Given the description of an element on the screen output the (x, y) to click on. 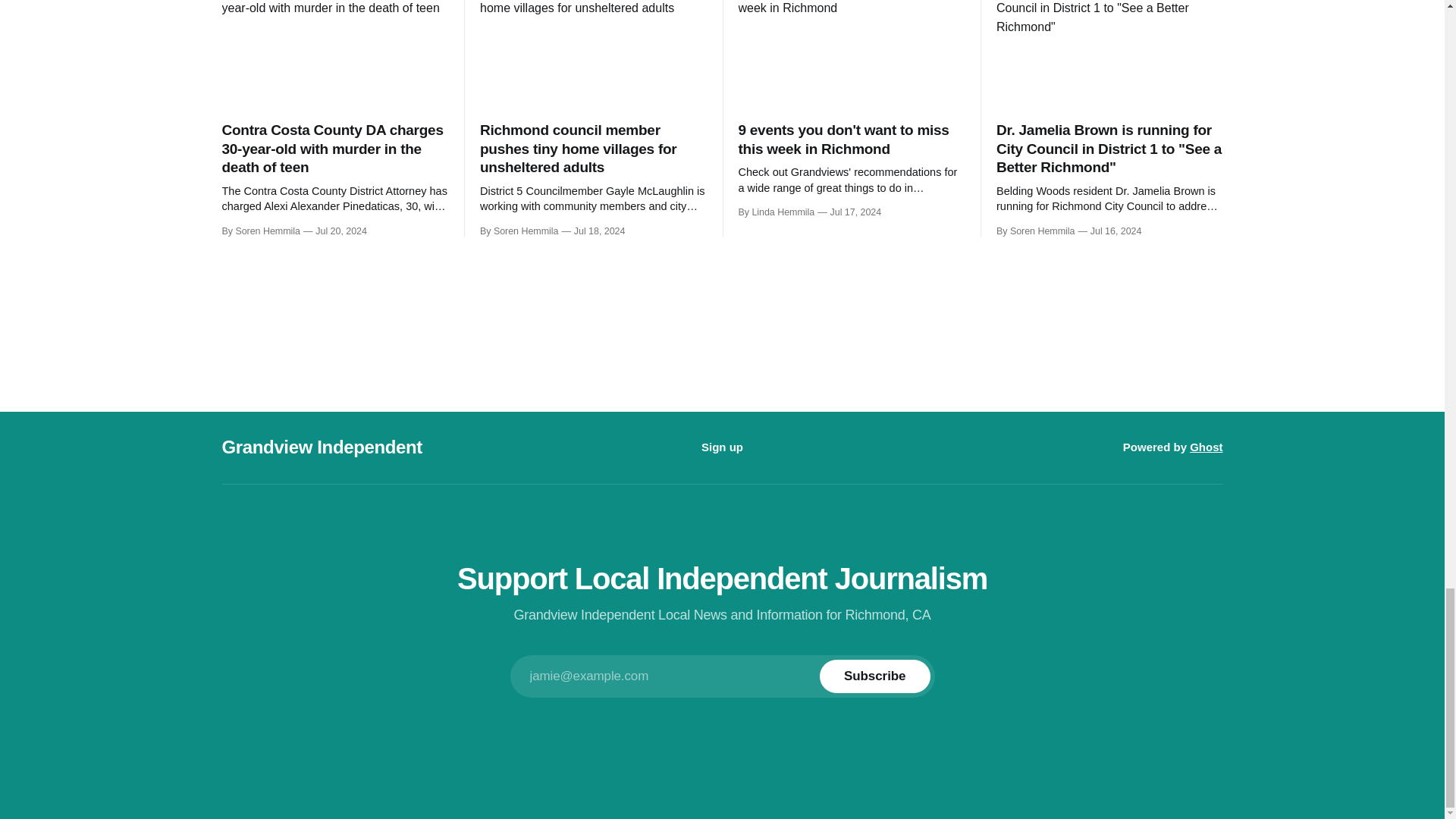
Subscribe (874, 676)
Sign up (721, 446)
Ghost (1206, 446)
